Given the description of an element on the screen output the (x, y) to click on. 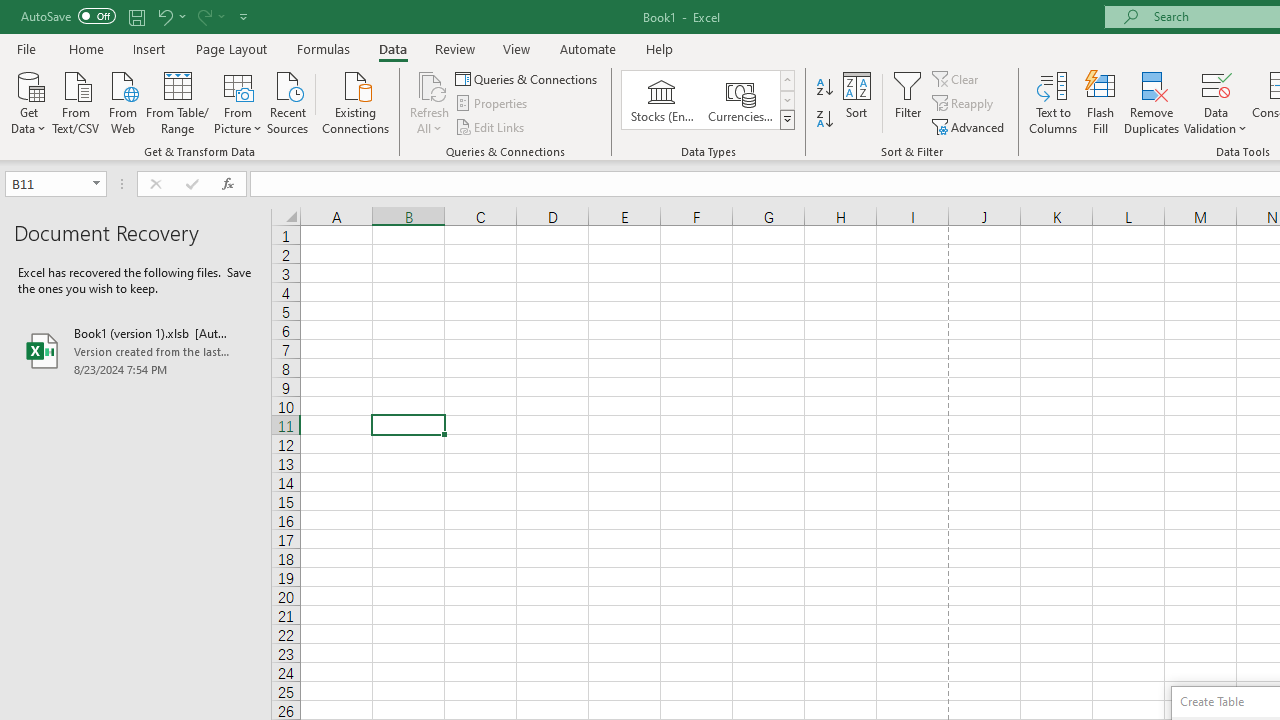
Get Data (28, 101)
Text to Columns... (1053, 102)
Edit Links (491, 126)
Sort... (856, 102)
From Text/CSV (75, 101)
From Table/Range (177, 101)
